Given the description of an element on the screen output the (x, y) to click on. 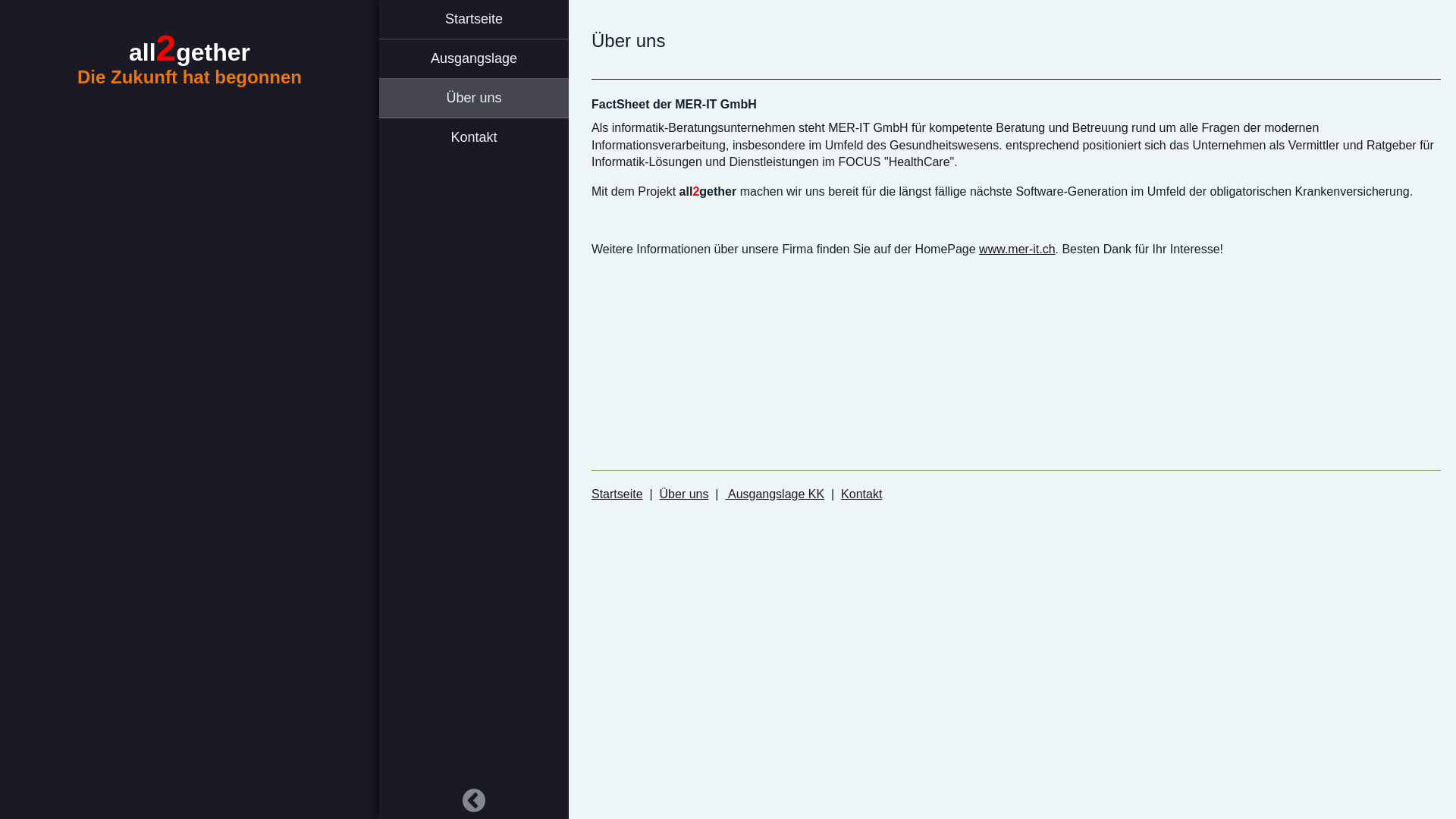
 Ausgangslage KK Element type: text (774, 493)
Kontakt Element type: text (473, 137)
Kontakt Element type: text (860, 493)
www.mer-it.ch Element type: text (1016, 248)
Startseite Element type: text (473, 19)
Startseite Element type: text (617, 493)
Ausgangslage Element type: text (473, 58)
